Given the description of an element on the screen output the (x, y) to click on. 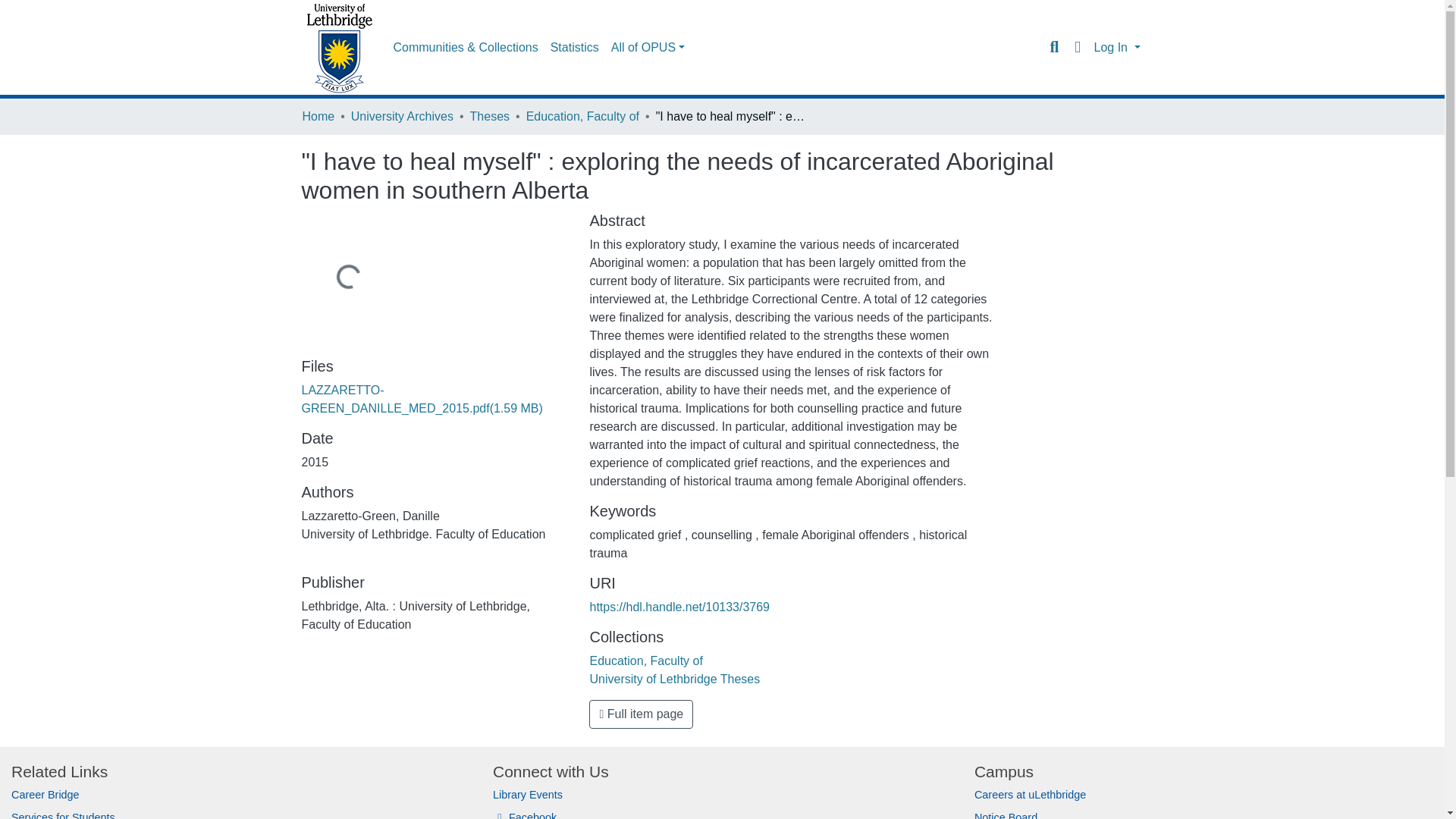
Language switch (1077, 47)
Education, Faculty of (645, 660)
Home (317, 116)
Careers at uLethbridge (1030, 794)
Full item page (641, 714)
Notice Board (1005, 815)
Library Events (527, 794)
Statistics (574, 47)
Statistics (574, 47)
Log In (1116, 47)
All of OPUS (647, 47)
Education, Faculty of (582, 116)
University Archives (401, 116)
Facebook (524, 815)
Services for Students (63, 815)
